Given the description of an element on the screen output the (x, y) to click on. 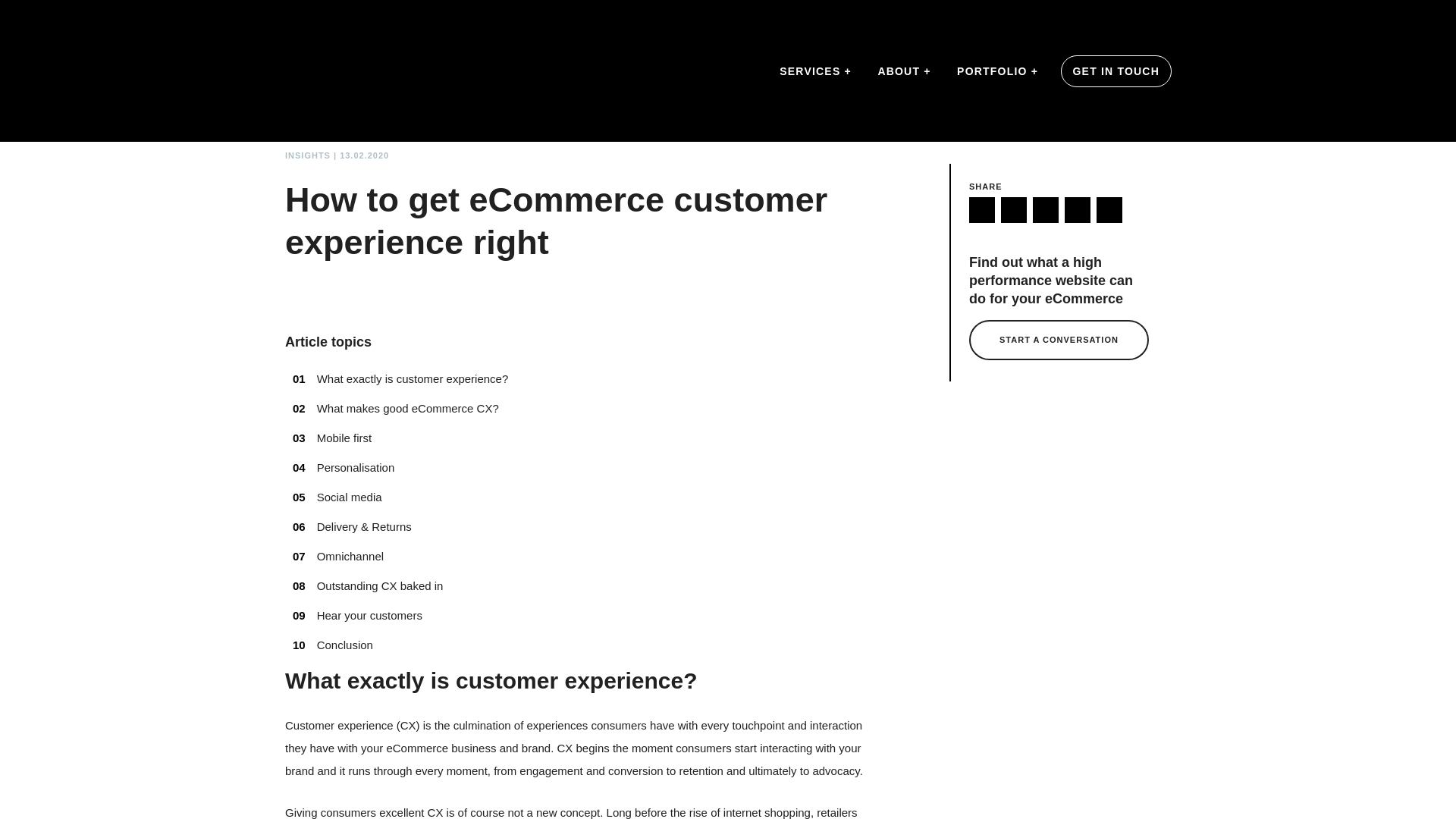
Services (816, 71)
SERVICES (816, 71)
